Given the description of an element on the screen output the (x, y) to click on. 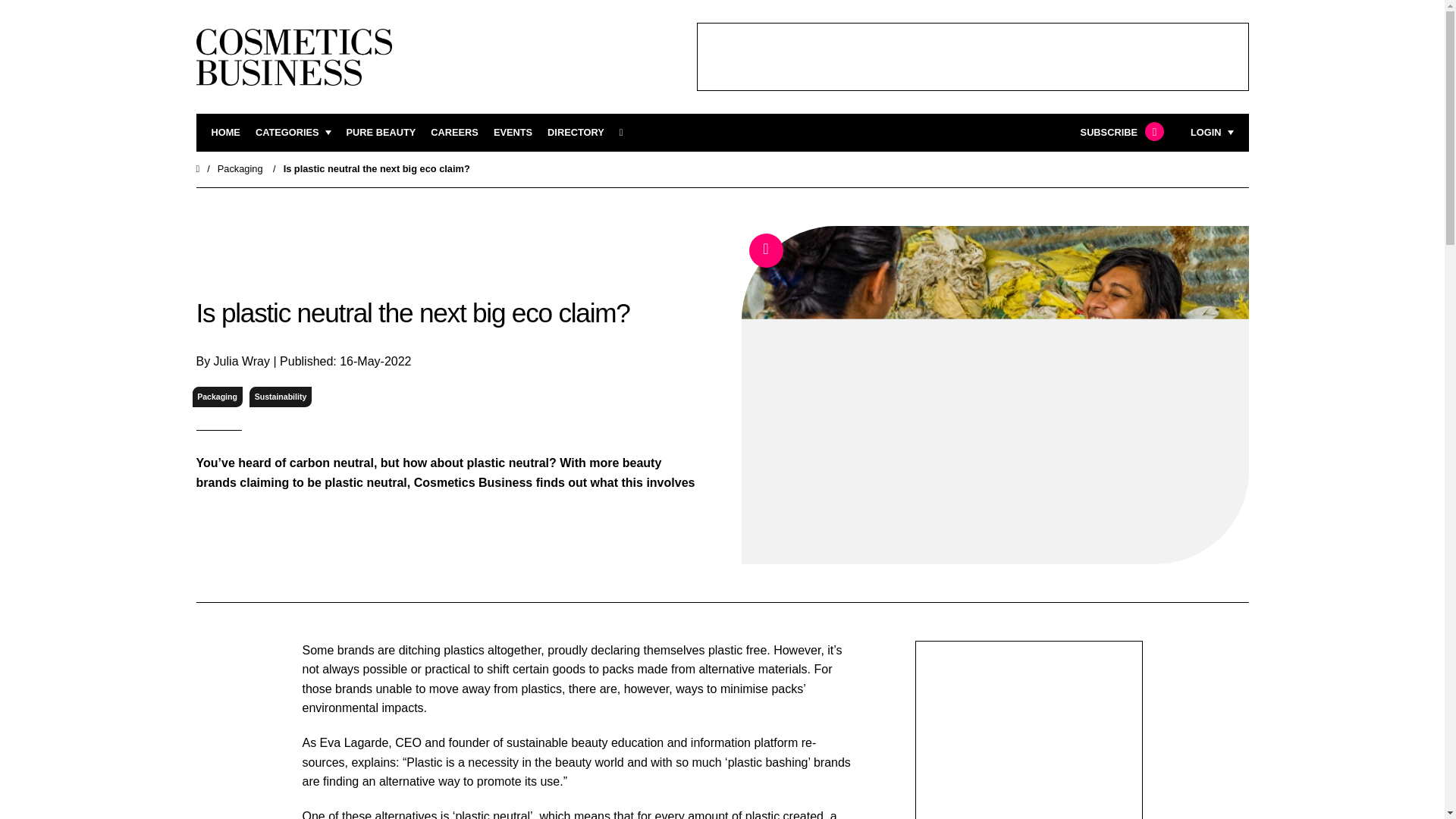
SEARCH (626, 133)
Packaging (217, 396)
DIRECTORY (575, 133)
Pure Beauty (381, 133)
Sustainability (279, 396)
HOME (225, 133)
LOGIN (1212, 133)
Directory (575, 133)
CATEGORIES (293, 133)
EVENTS (512, 133)
Packaging (239, 168)
SUBSCRIBE (1120, 133)
PURE BEAUTY (381, 133)
Sign In (1134, 321)
CAREERS (454, 133)
